Given the description of an element on the screen output the (x, y) to click on. 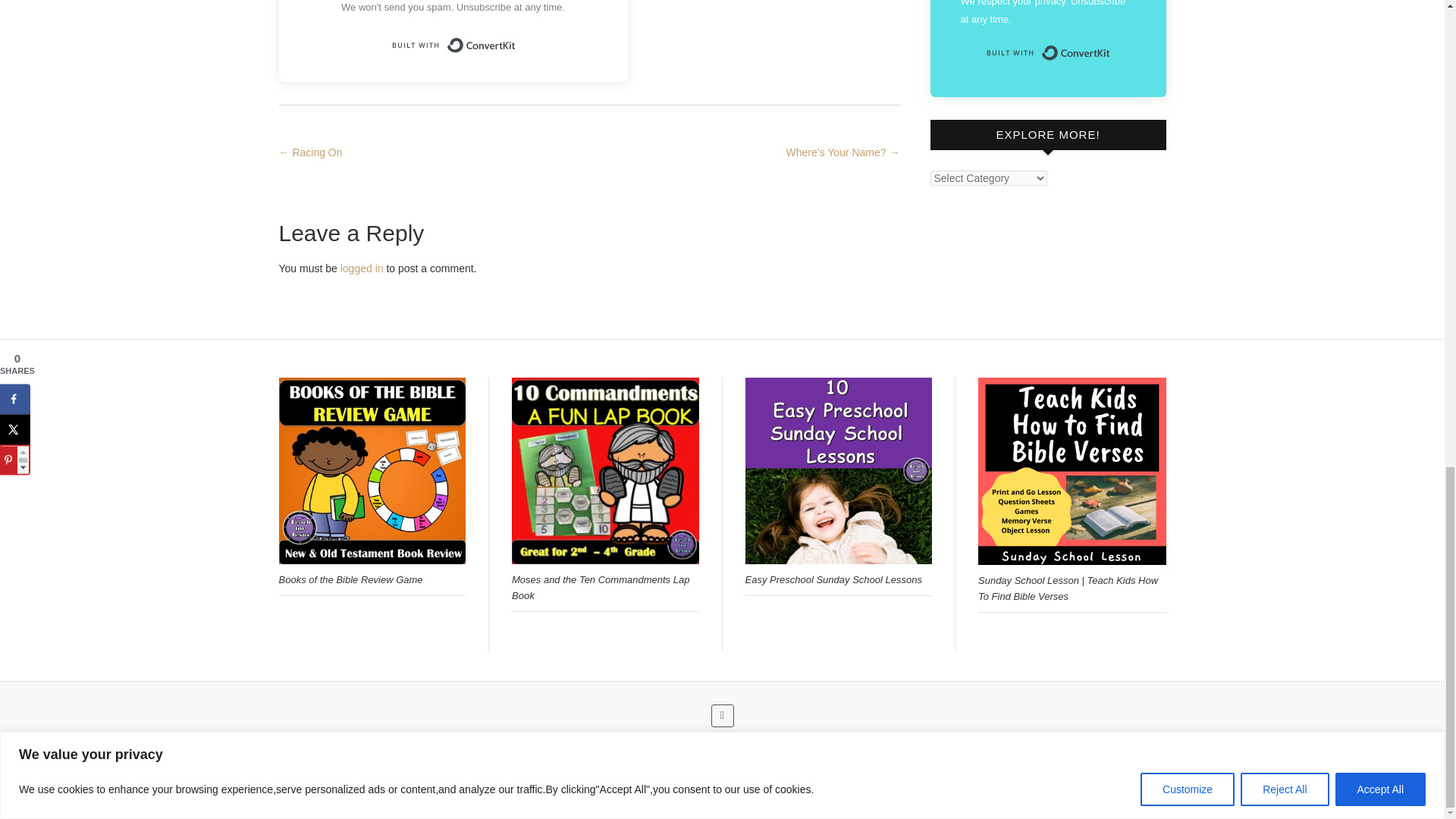
Built with ConvertKit (452, 44)
WordPress (874, 799)
logged in (362, 268)
Built with ConvertKit (1047, 52)
Theme Freesia (750, 799)
Teach for Jesus (614, 799)
